Given the description of an element on the screen output the (x, y) to click on. 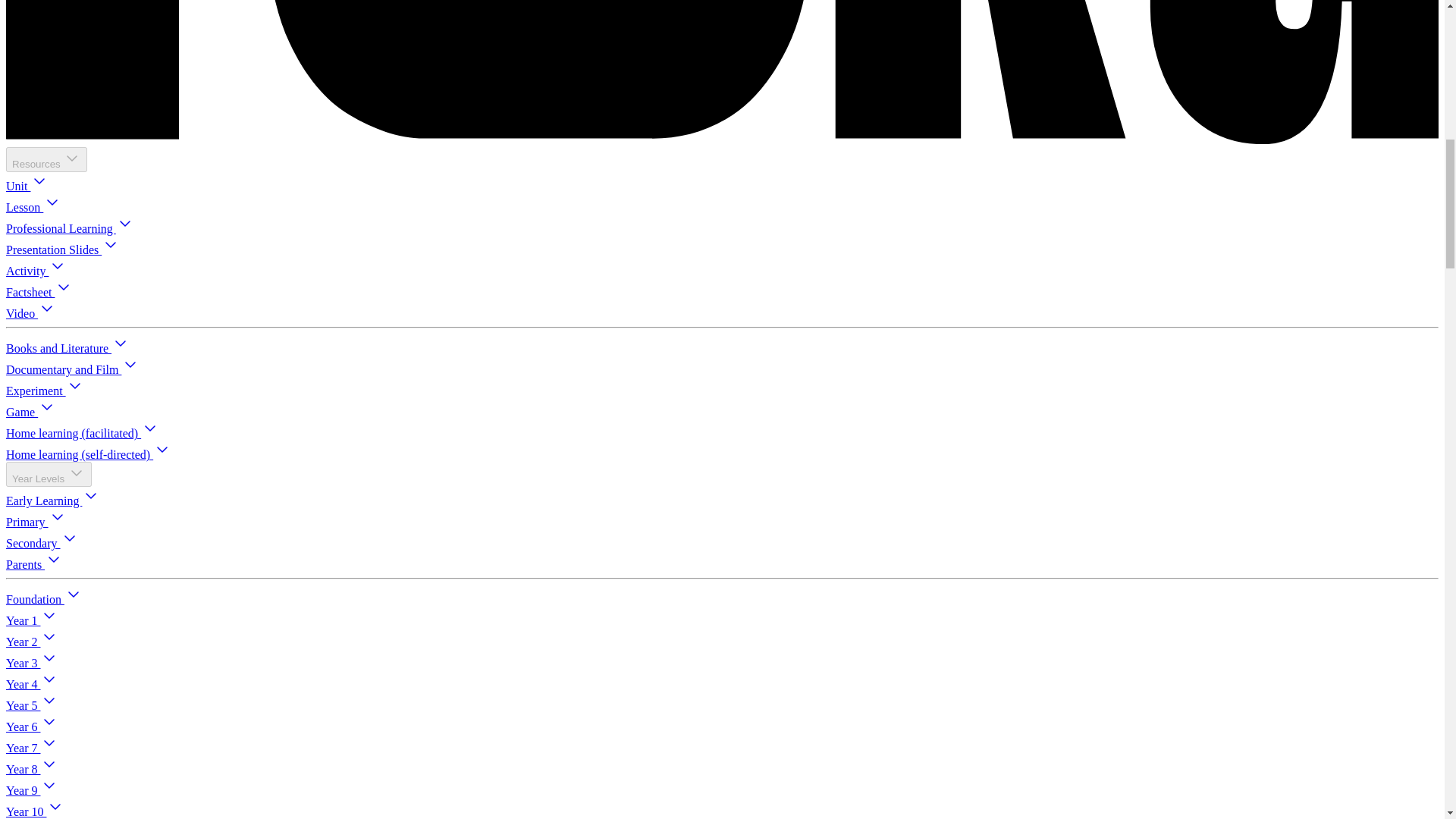
Year Levels (48, 473)
Resources (46, 159)
